Given the description of an element on the screen output the (x, y) to click on. 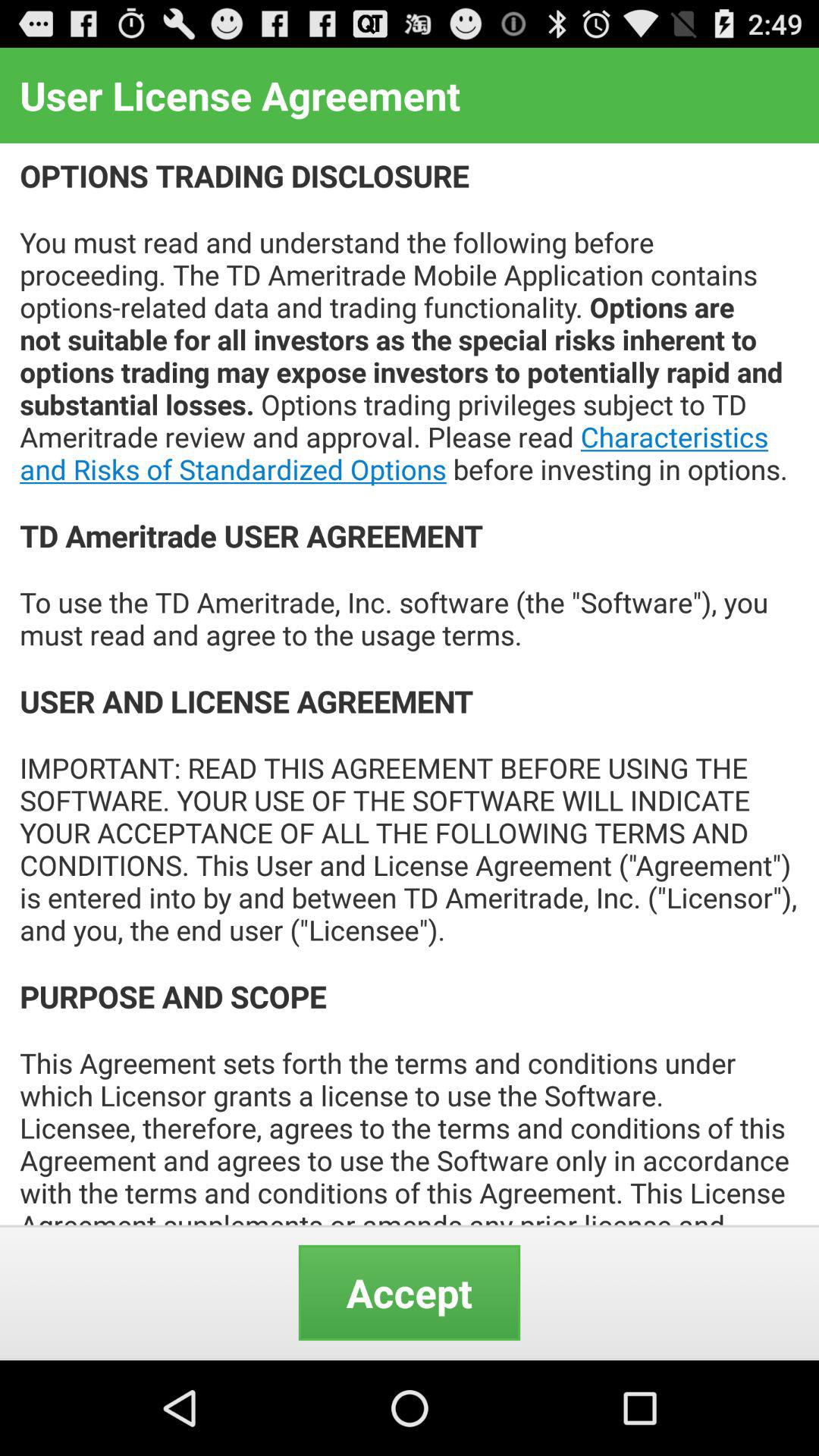
turn off accept item (409, 1292)
